Given the description of an element on the screen output the (x, y) to click on. 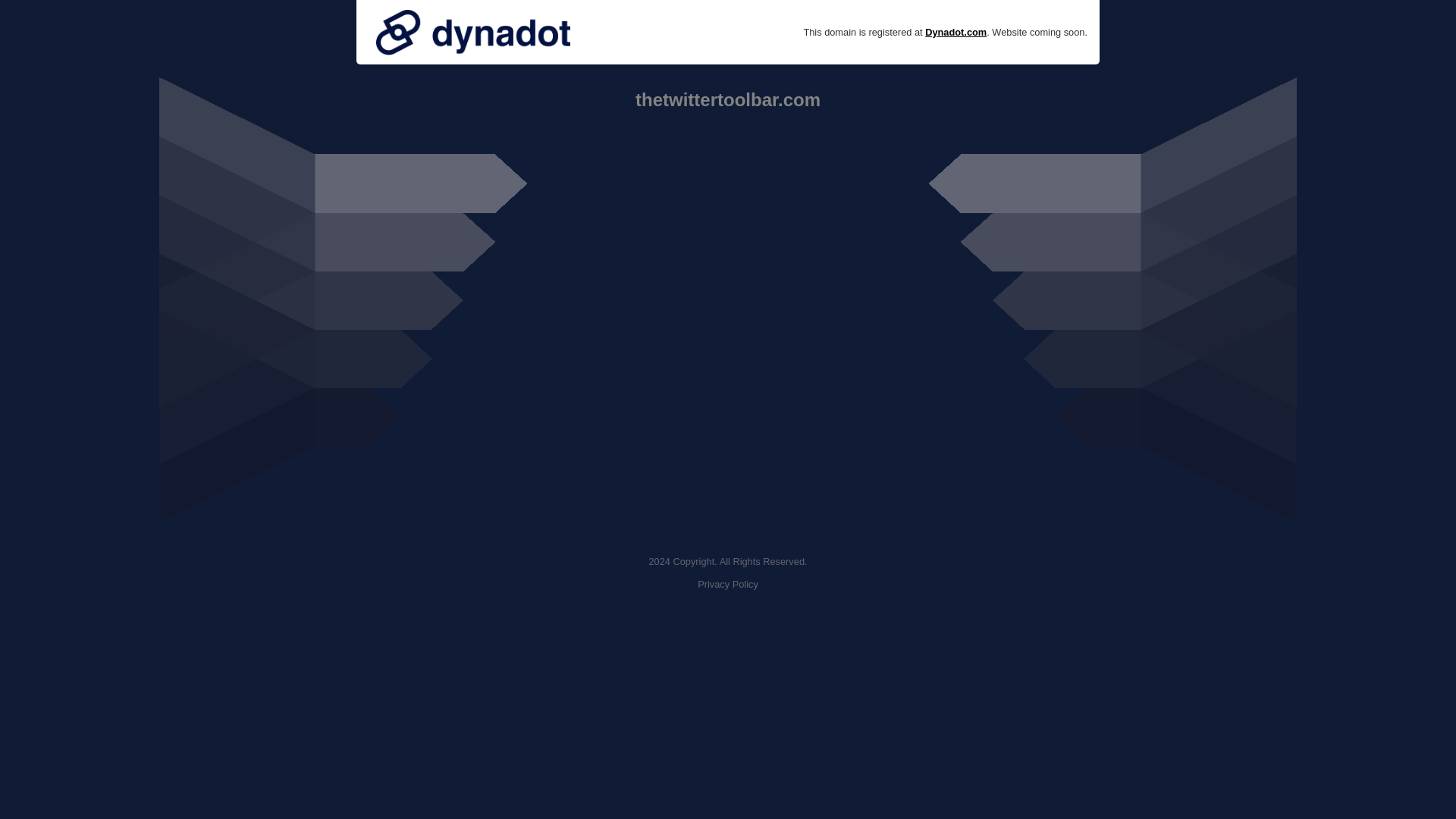
Domain managed at Dynadot.com (473, 31)
Dynadot.com (955, 31)
Privacy Policy (727, 583)
